Given the description of an element on the screen output the (x, y) to click on. 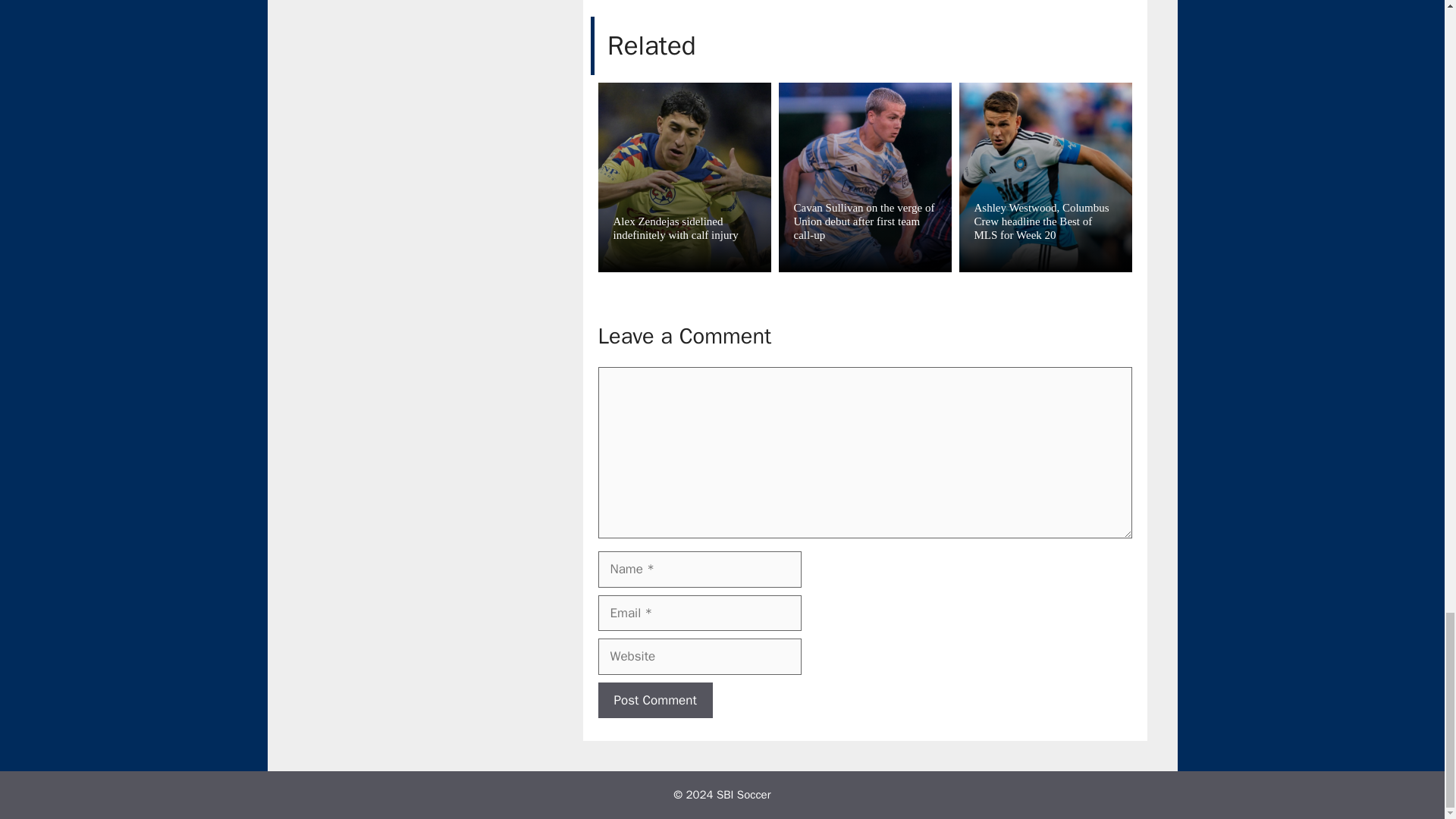
Post Comment (653, 700)
